Given the description of an element on the screen output the (x, y) to click on. 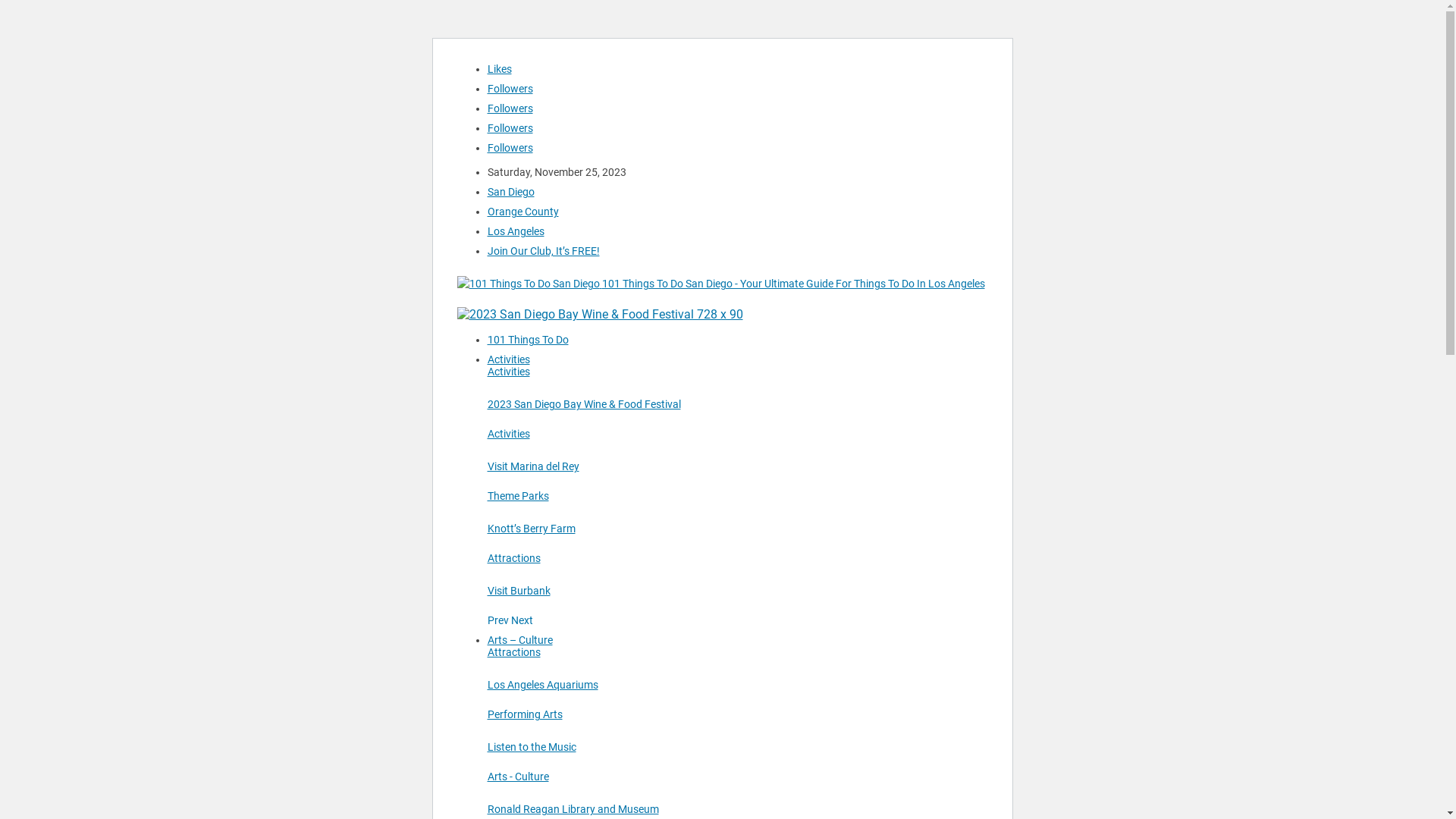
Activities Element type: text (507, 433)
Likes Element type: text (498, 68)
Listen to the Music Element type: text (530, 746)
Next Element type: text (522, 620)
Followers Element type: text (509, 128)
Los Angeles Aquariums Element type: text (541, 684)
Visit Burbank Element type: text (517, 590)
Performing Arts Element type: text (523, 714)
Activities Element type: text (507, 371)
101 Things To Do Element type: text (526, 339)
Followers Element type: text (509, 108)
2023 San Diego Bay Wine & Food Festival Element type: text (583, 404)
Los Angeles Element type: text (514, 231)
Orange County Element type: text (522, 211)
Followers Element type: text (509, 147)
Ronald Reagan Library and Museum Element type: text (572, 809)
Attractions Element type: text (512, 652)
Prev Element type: text (498, 620)
Visit Marina del Rey Element type: text (532, 466)
San Diego Element type: text (509, 191)
Attractions Element type: text (512, 558)
Arts - Culture Element type: text (517, 776)
Activities Element type: text (507, 359)
Followers Element type: text (509, 88)
Theme Parks Element type: text (517, 495)
